Given the description of an element on the screen output the (x, y) to click on. 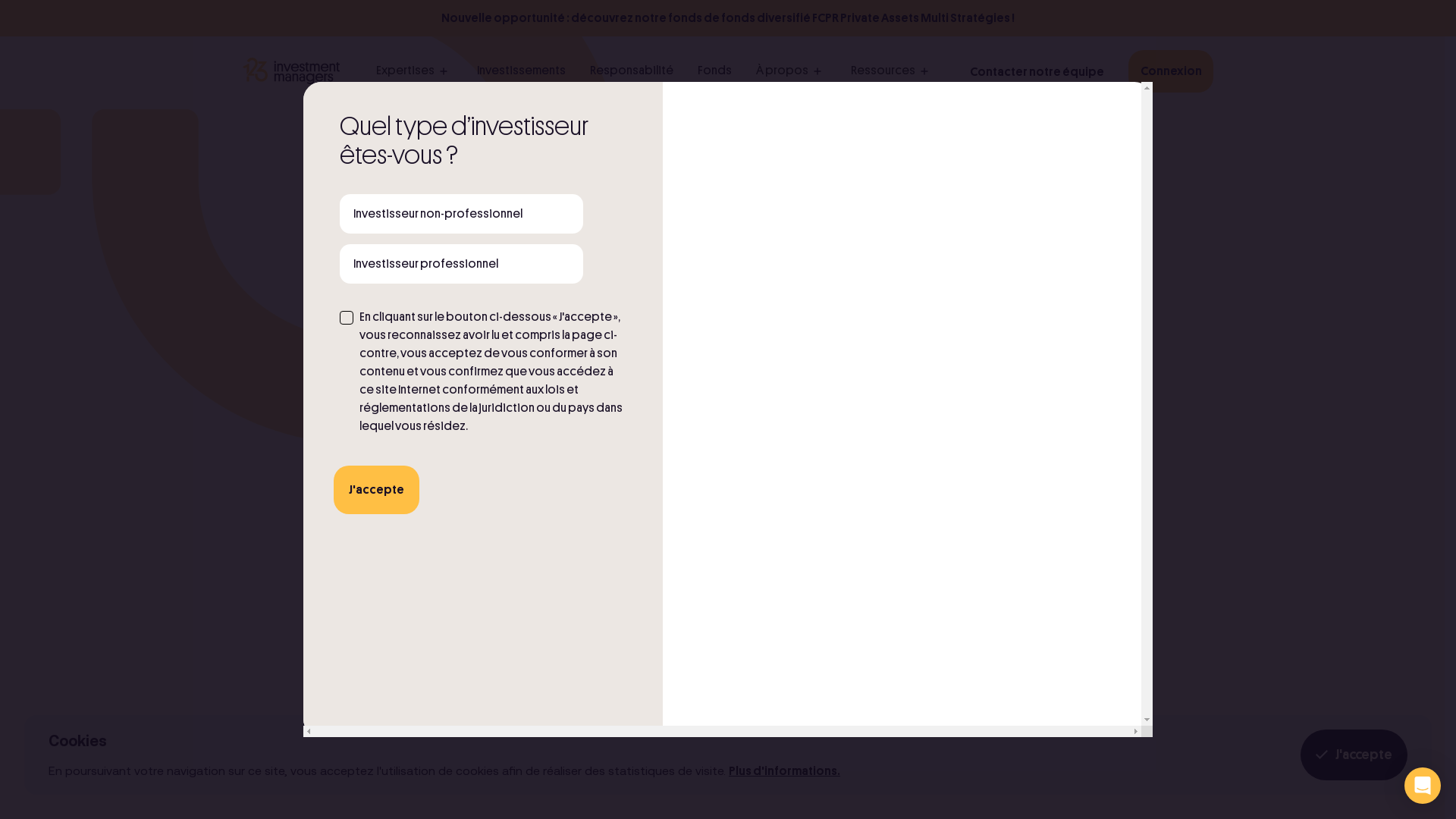
Fonds Element type: text (714, 70)
J'accepte Element type: text (376, 489)
Plus d'informations. Element type: text (784, 771)
Investissements Element type: text (520, 70)
J'accepte Element type: text (1353, 754)
